Given the description of an element on the screen output the (x, y) to click on. 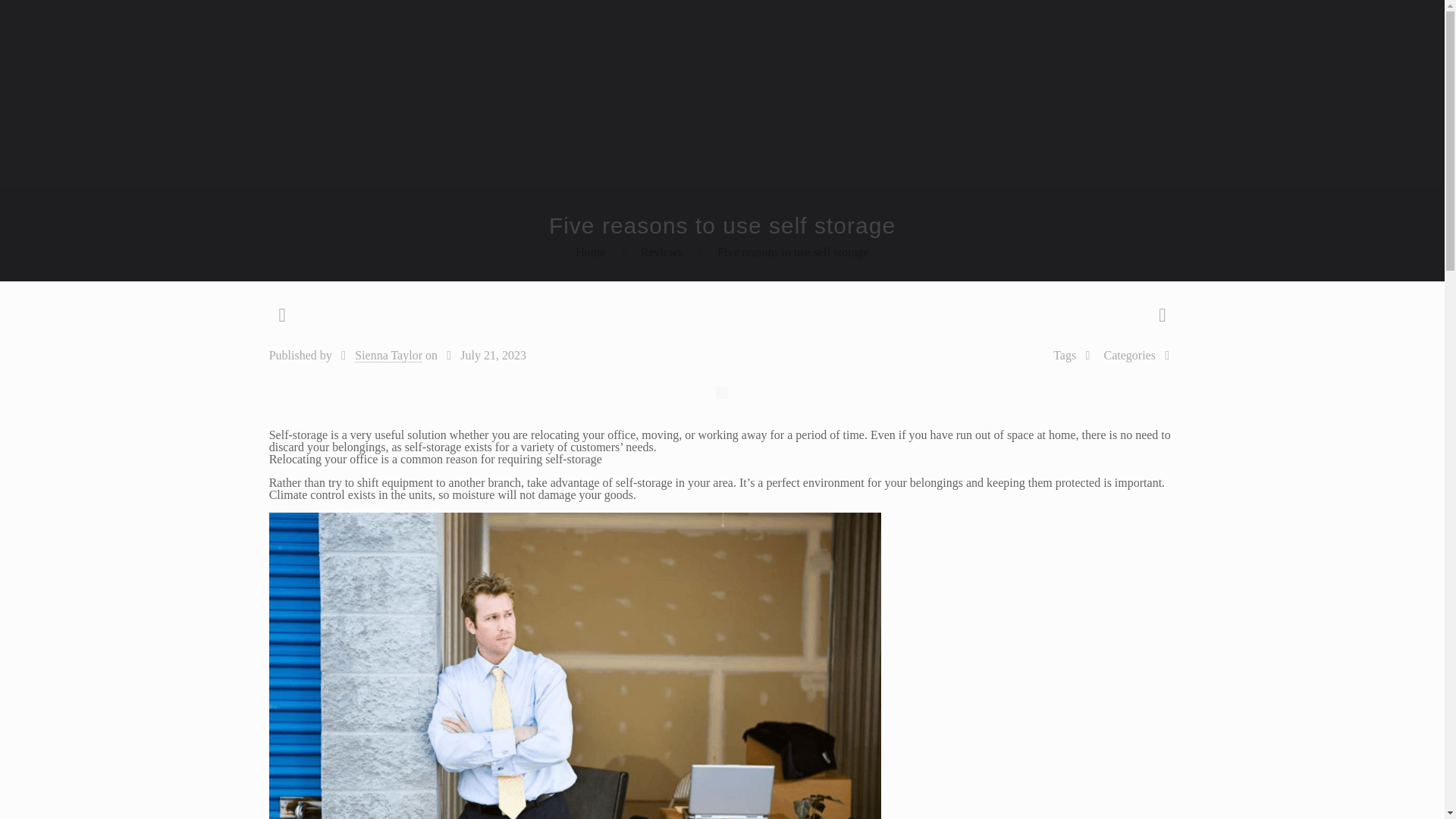
Home (590, 251)
Sienna Taylor (388, 355)
Reviews (661, 251)
Five reasons to use self storage (793, 251)
